Given the description of an element on the screen output the (x, y) to click on. 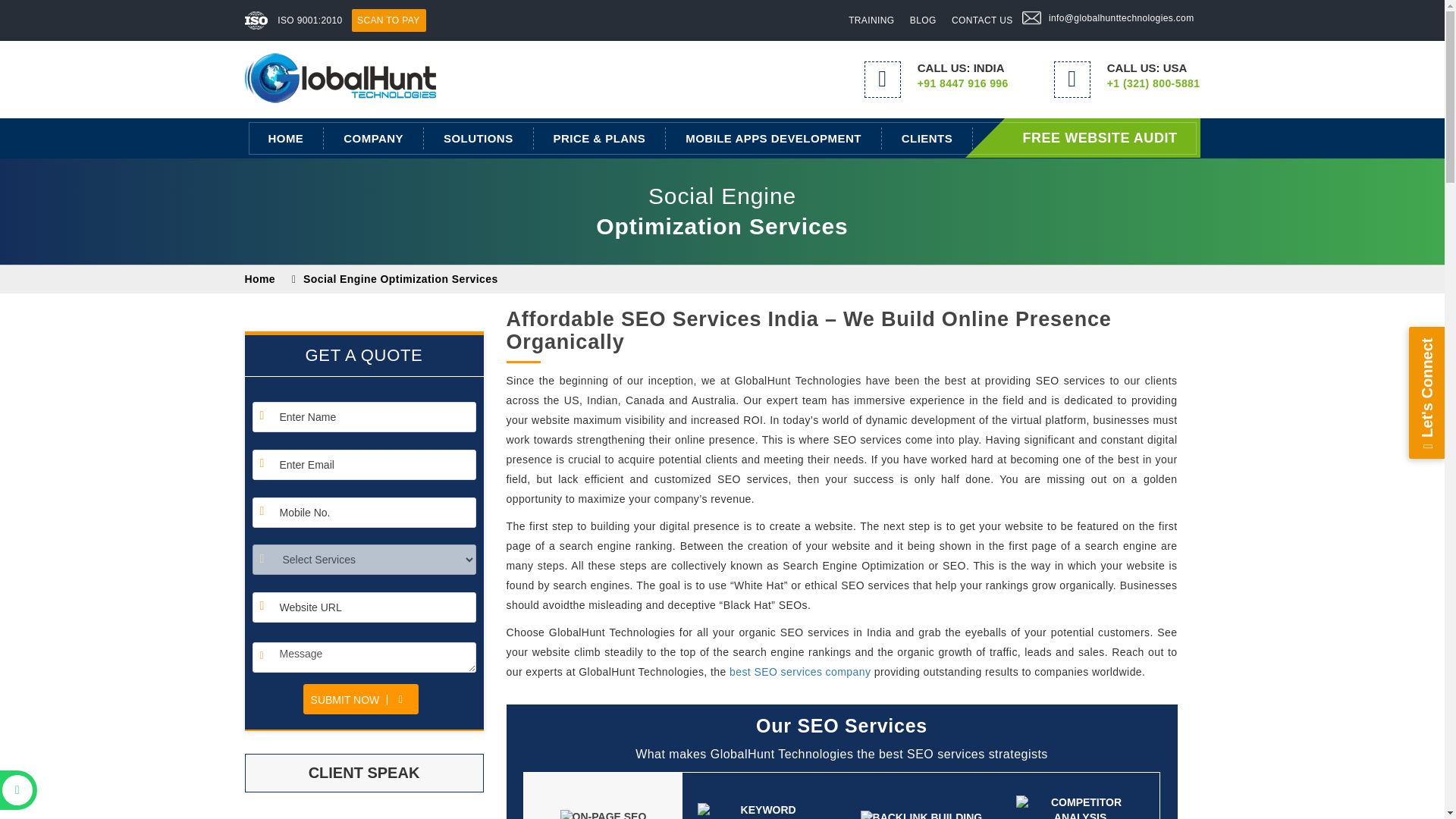
TRAINING (871, 20)
HOME (286, 138)
ISO 9001:2010 (311, 20)
CONTACT US (981, 20)
Submit Now (360, 698)
SCAN TO PAY (388, 20)
COMPANY (373, 138)
SOLUTIONS (478, 138)
BLOG (923, 20)
